Given the description of an element on the screen output the (x, y) to click on. 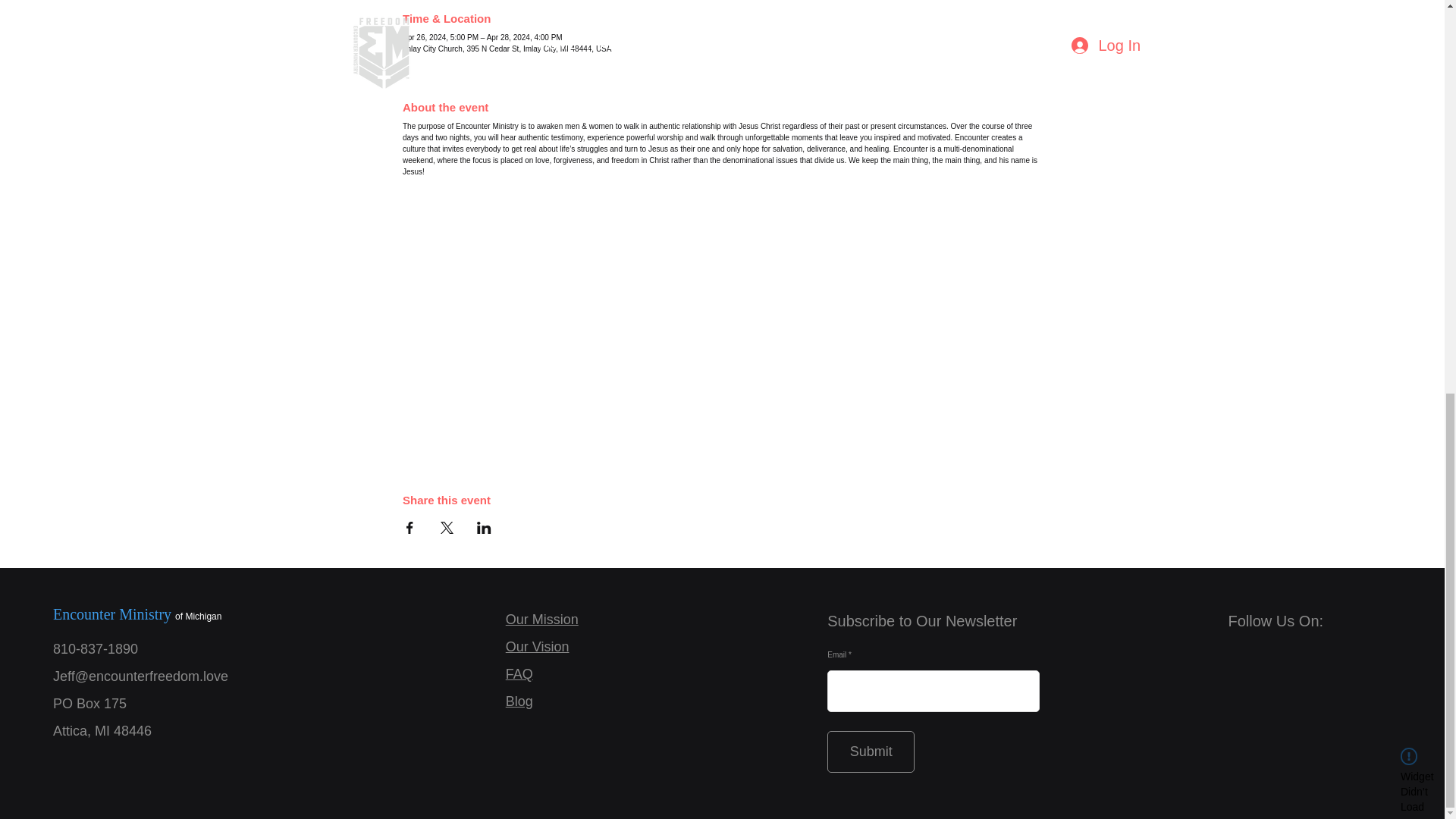
Submit (870, 752)
of Michigan (197, 615)
FAQ (518, 673)
Our Mission (541, 619)
Blog (518, 701)
Our Vision (537, 646)
Encounter Ministry (113, 614)
